Given the description of an element on the screen output the (x, y) to click on. 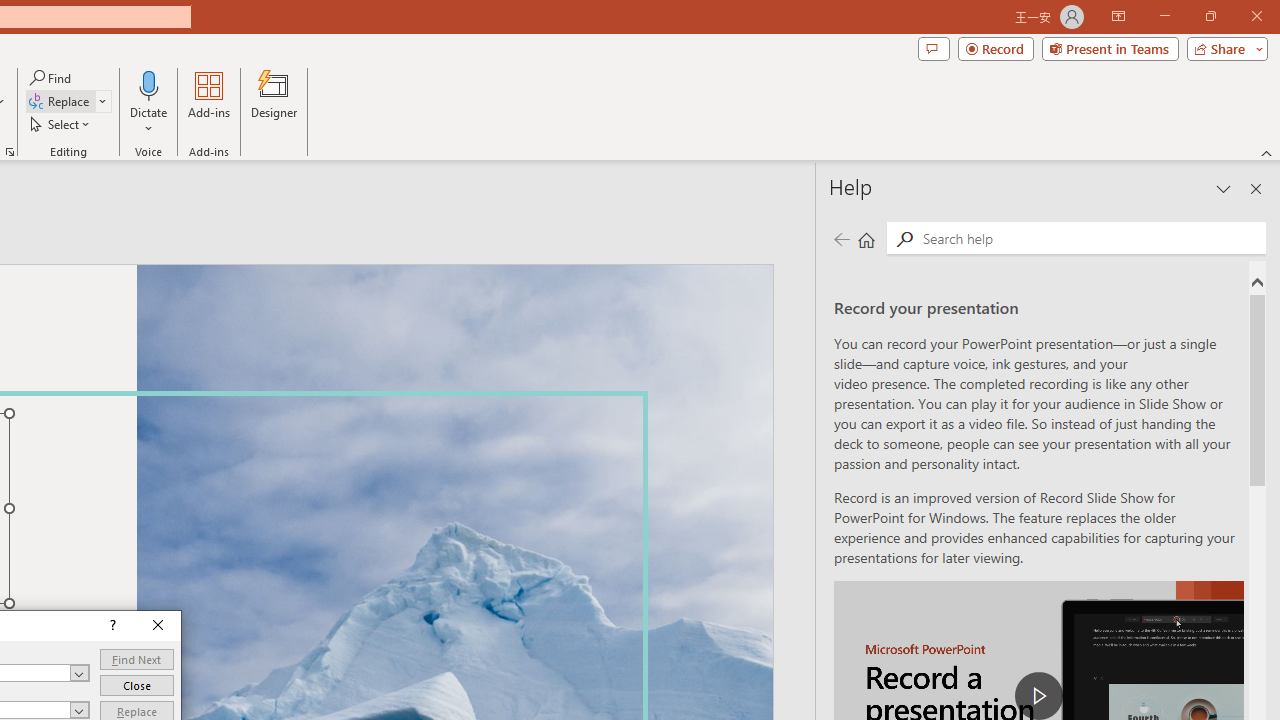
Previous page (841, 238)
Find Next (136, 659)
